Given the description of an element on the screen output the (x, y) to click on. 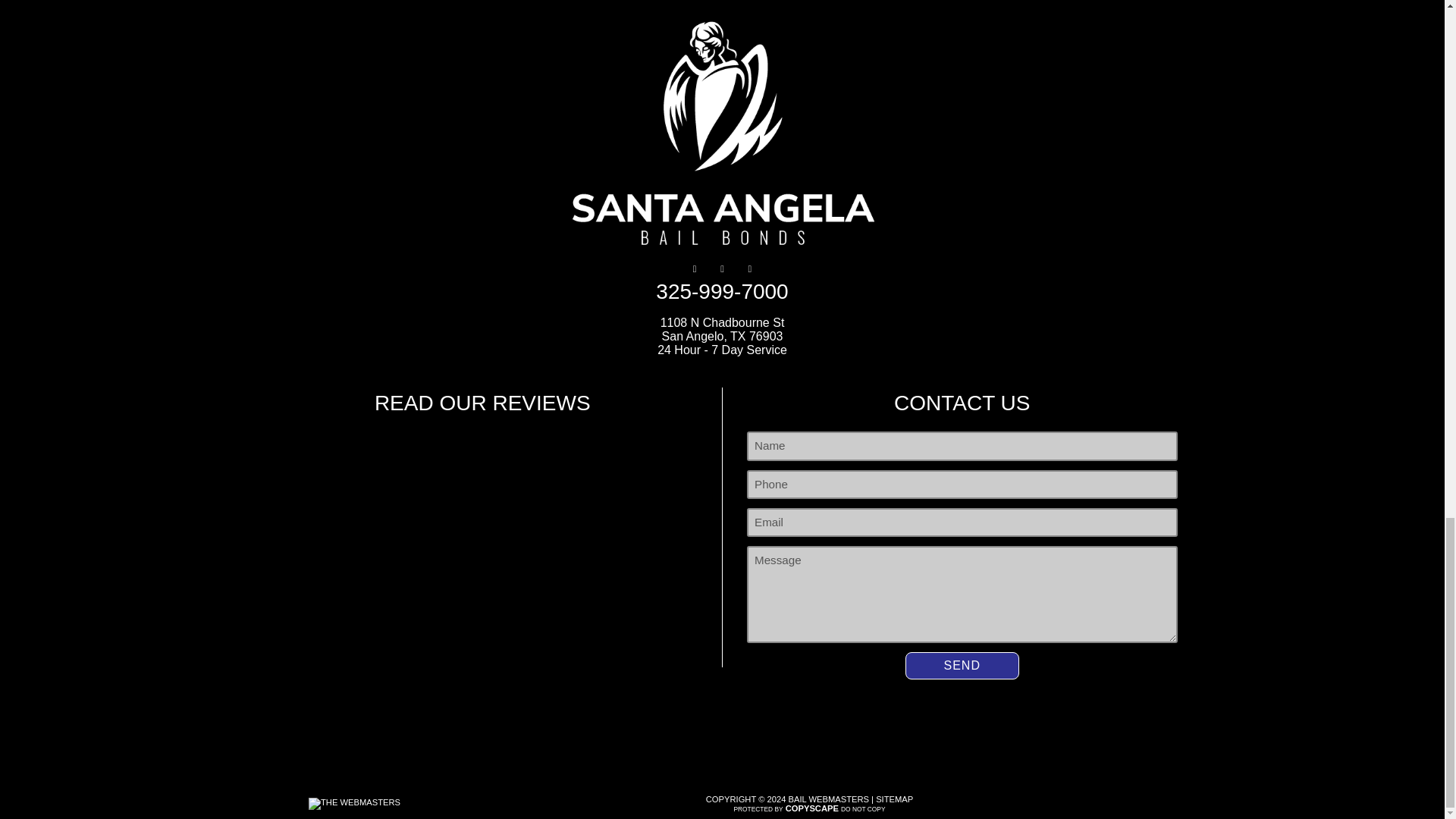
Send (962, 665)
PROTECTED BY COPYSCAPE DO NOT COPY (809, 808)
Send (962, 665)
SITEMAP (894, 798)
